Given the description of an element on the screen output the (x, y) to click on. 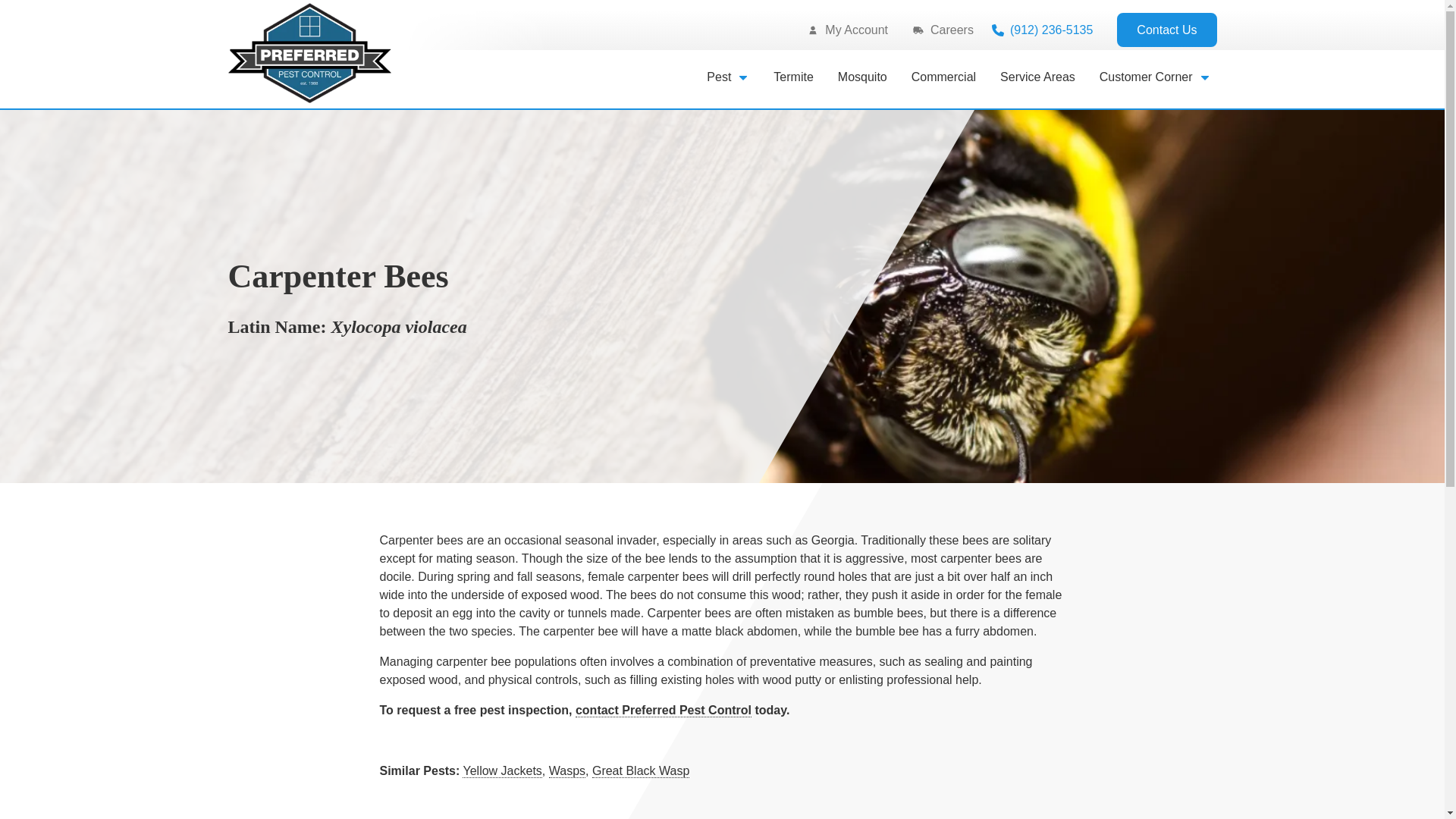
Commercial (943, 77)
Termite (792, 77)
Service Areas (1037, 77)
Contact Us (1165, 30)
Yellow Jackets (502, 771)
Great Black Wasp (640, 771)
Wasps (566, 771)
Customer Corner (1155, 77)
Careers (942, 30)
My Account (846, 30)
